Given the description of an element on the screen output the (x, y) to click on. 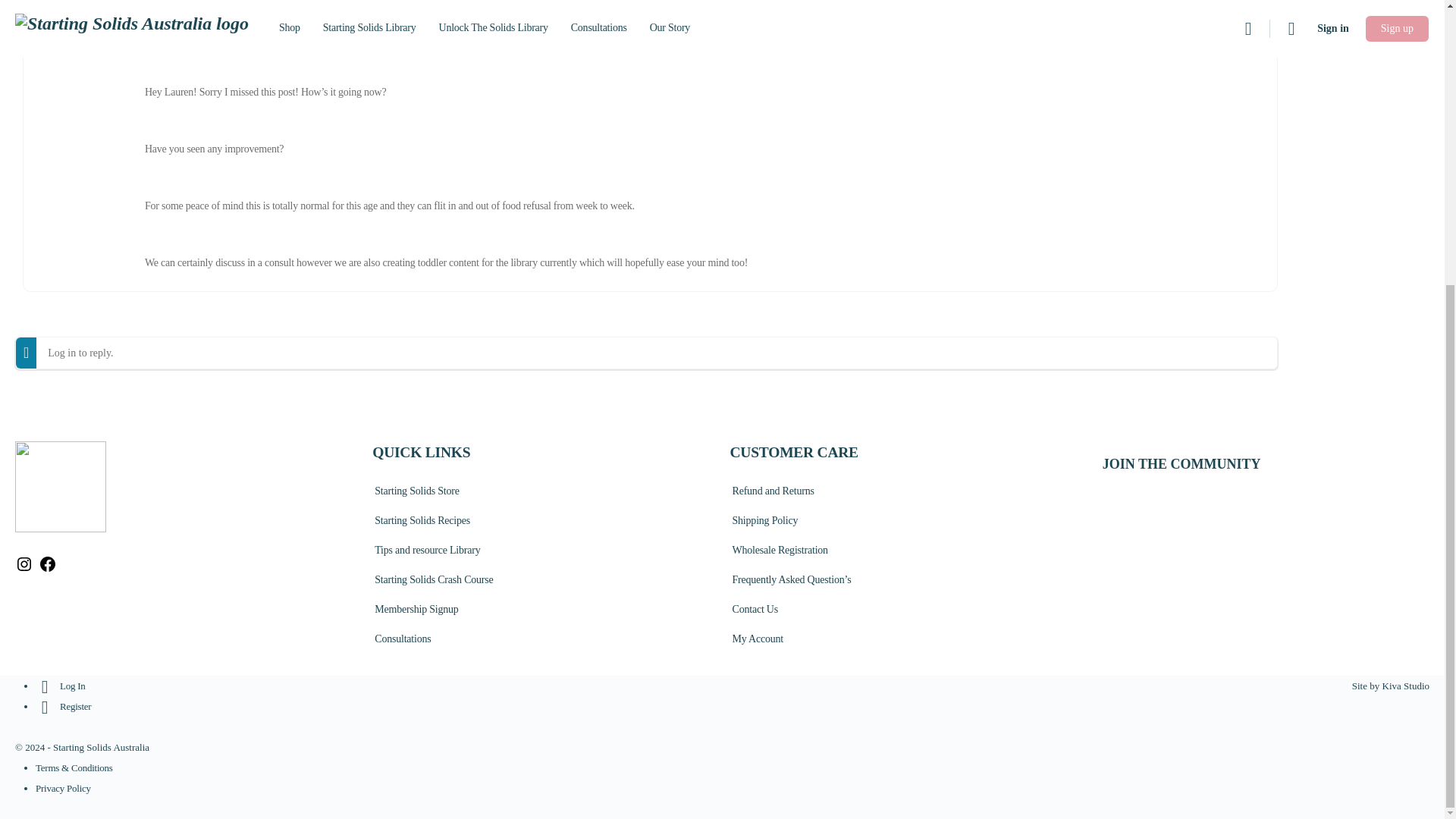
View Jeanette's profile (166, 34)
View Jeanette's profile (89, 42)
